Given the description of an element on the screen output the (x, y) to click on. 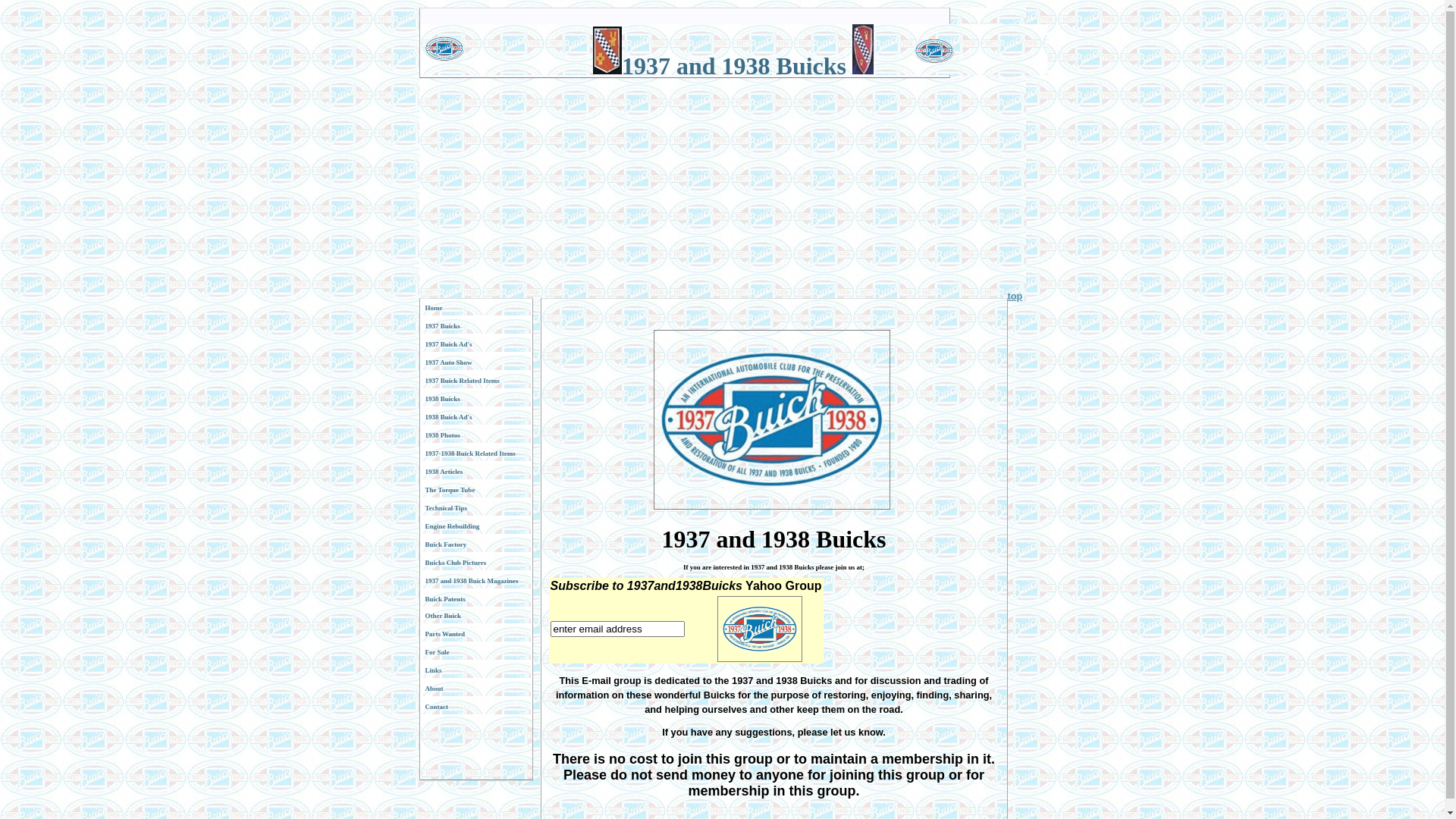
1937 and 1938 Buick Magazines Element type: text (475, 580)
1937 Buicks Element type: text (475, 325)
Advertisement Element type: hover (721, 184)
Contact Element type: text (475, 706)
1937 Buick Related Items Element type: text (475, 380)
Technical Tips Element type: text (475, 507)
1937-1938 Buick Related Items Element type: text (475, 453)
Other Buick Element type: text (475, 615)
Buick Patents Element type: text (475, 598)
1938 Buicks Element type: text (475, 398)
Home Element type: text (475, 307)
1938 Articles Element type: text (475, 471)
top Element type: text (1014, 295)
1937 Auto Show Element type: text (475, 362)
Buicks Club Pictures Element type: text (475, 562)
The Torque Tube Element type: text (475, 489)
1937 Buick Ad's Element type: text (475, 343)
Buick Factory Element type: text (475, 544)
About Element type: text (475, 688)
For Sale Element type: text (475, 651)
1938 Buick Ad's Element type: text (475, 416)
1938 Photos Element type: text (475, 434)
Links Element type: text (475, 670)
Parts Wanted Element type: text (475, 633)
Engine Rebuilding Element type: text (475, 525)
